Given the description of an element on the screen output the (x, y) to click on. 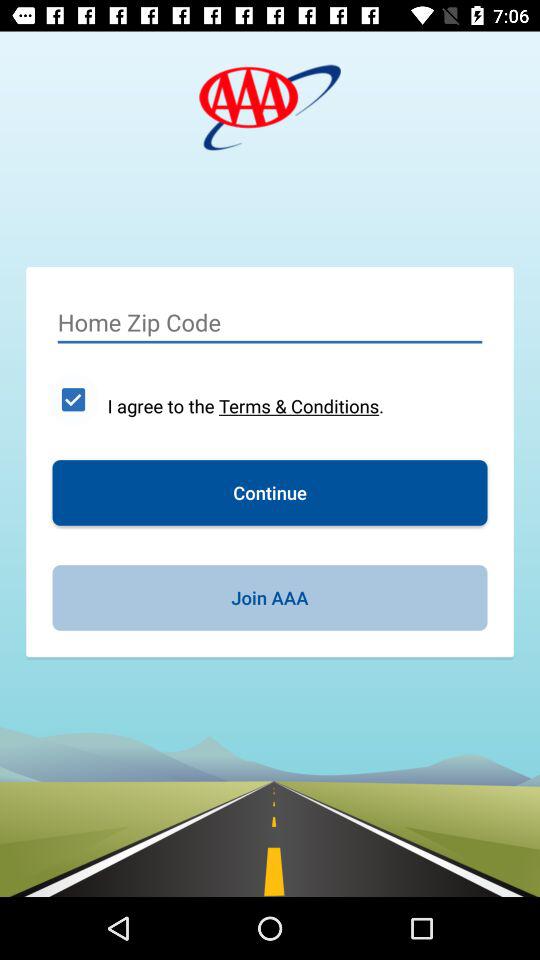
press the icon above the join aaa item (269, 492)
